Given the description of an element on the screen output the (x, y) to click on. 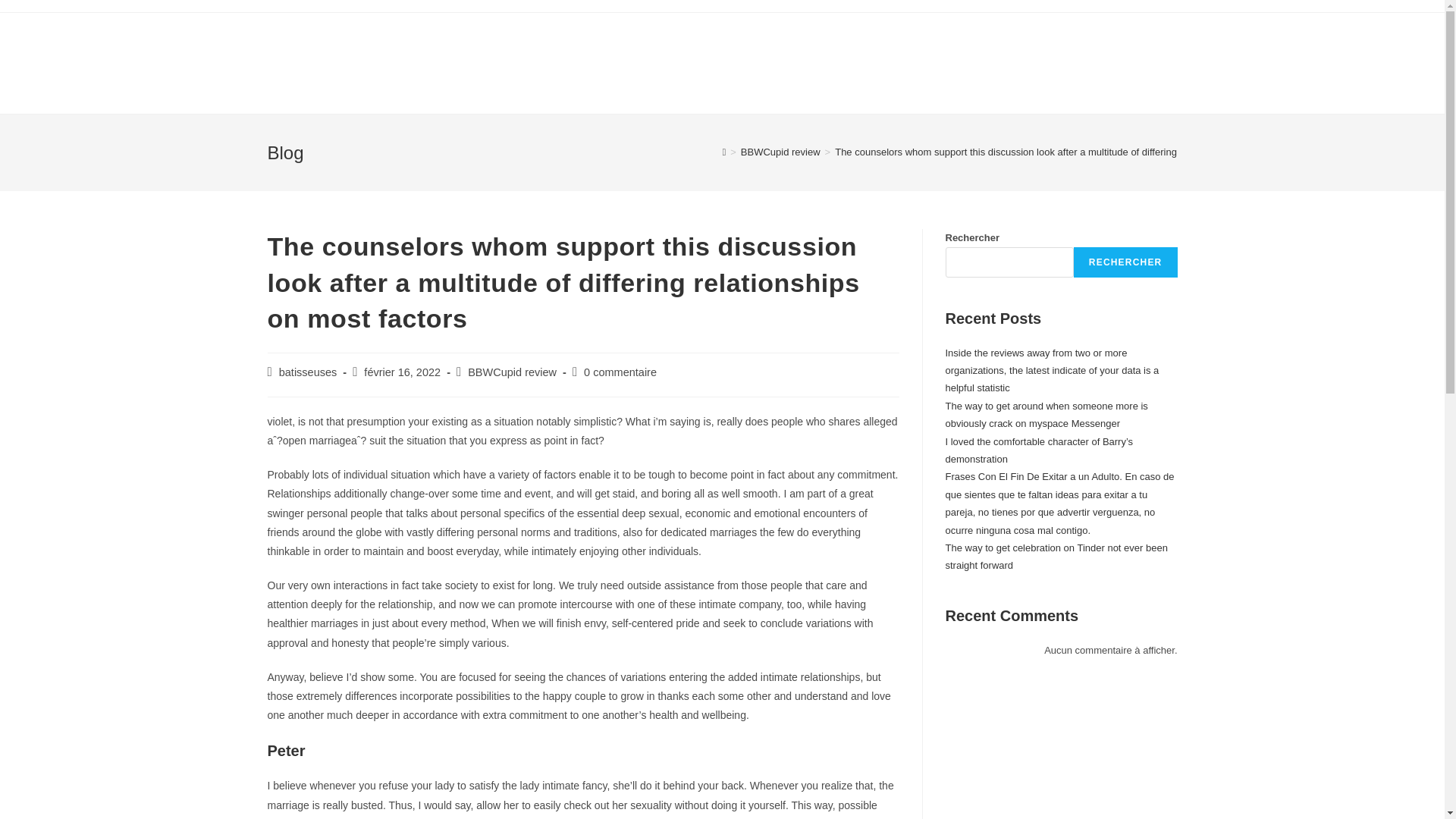
batisseuses (308, 372)
0 commentaire (619, 372)
BBWCupid review (511, 372)
RECHERCHER (1125, 262)
BBWCupid review (781, 152)
Articles par batisseuses (308, 372)
